Given the description of an element on the screen output the (x, y) to click on. 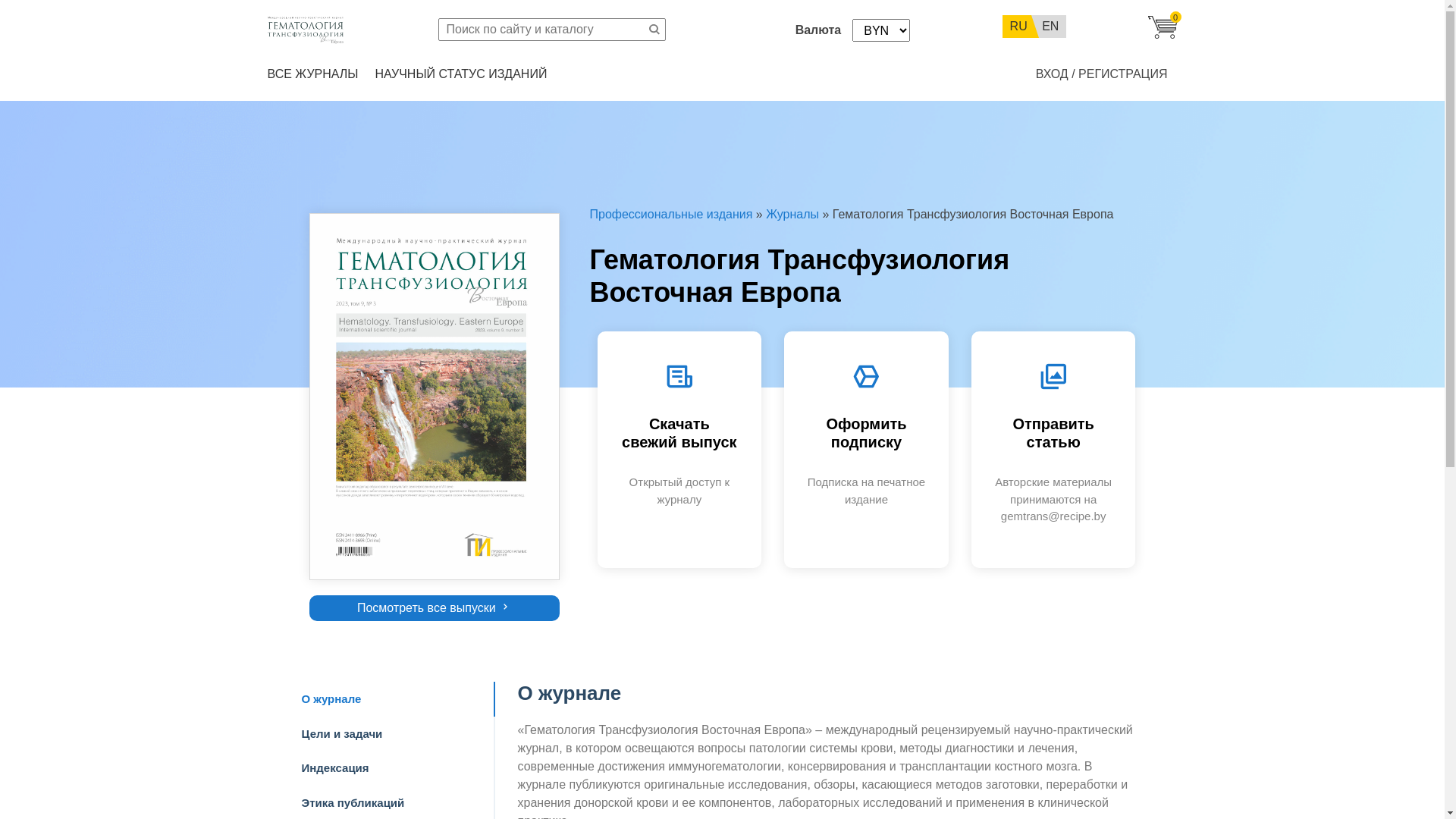
0 Element type: text (1161, 34)
RU Element type: text (1016, 26)
EN Element type: text (1050, 26)
